Given the description of an element on the screen output the (x, y) to click on. 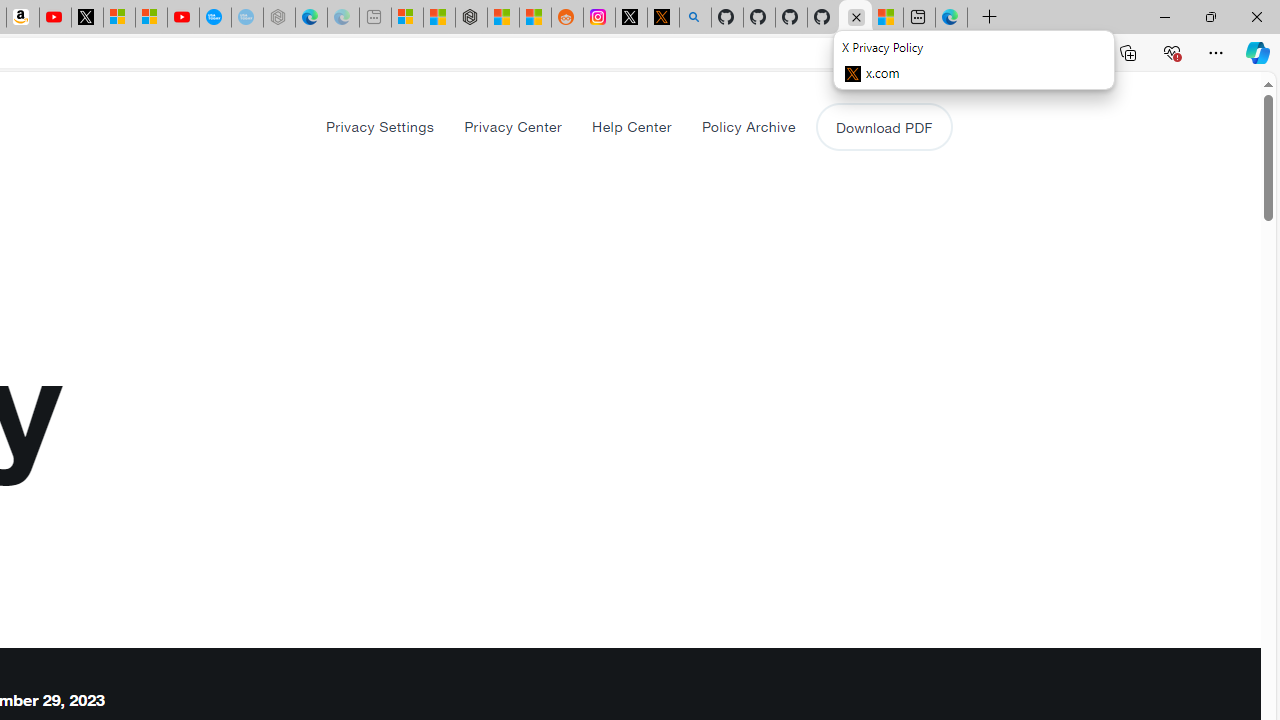
Opinion: Op-Ed and Commentary - USA TODAY (215, 17)
Privacy Settings (380, 126)
Privacy Settings (379, 126)
Microsoft account | Microsoft Account Privacy Settings (407, 17)
Welcome to Microsoft Edge (950, 17)
Download PDF (884, 126)
